Given the description of an element on the screen output the (x, y) to click on. 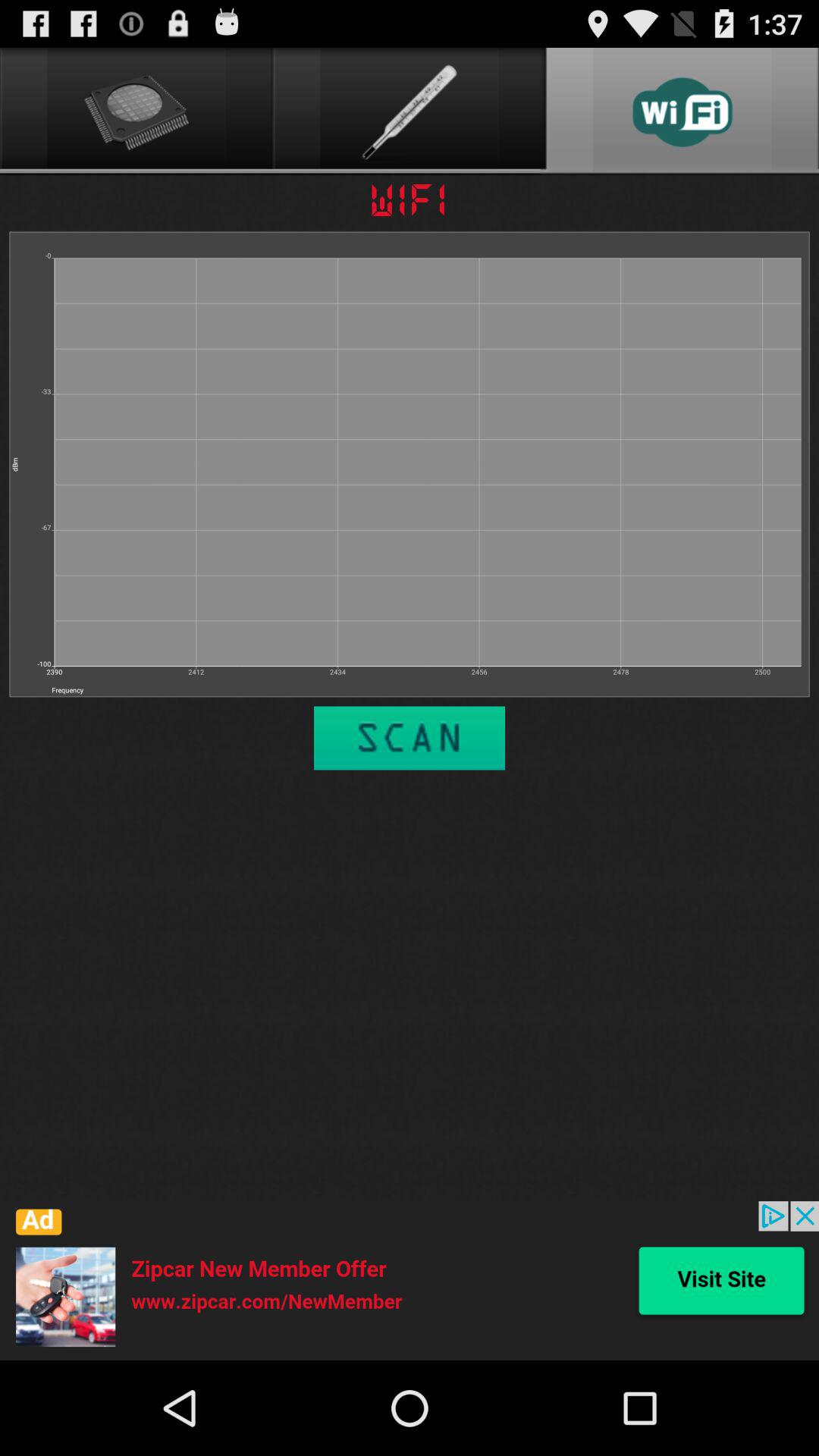
share the article (409, 1280)
